Given the description of an element on the screen output the (x, y) to click on. 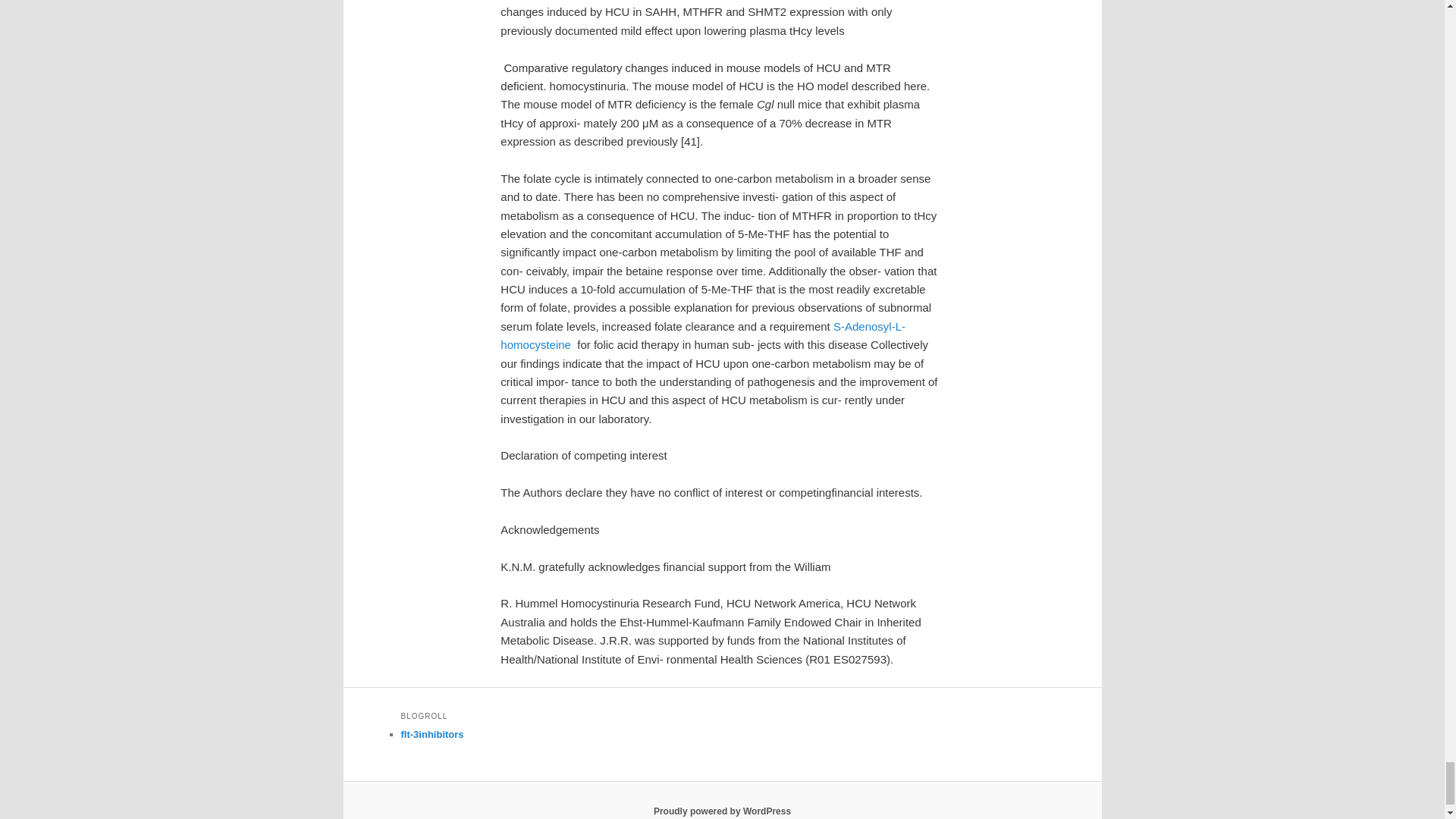
Proudly powered by WordPress (721, 810)
 S-Adenosyl-L-homocysteine (702, 335)
flt-3inhibitors (431, 734)
Semantic Personal Publishing Platform (721, 810)
